Given the description of an element on the screen output the (x, y) to click on. 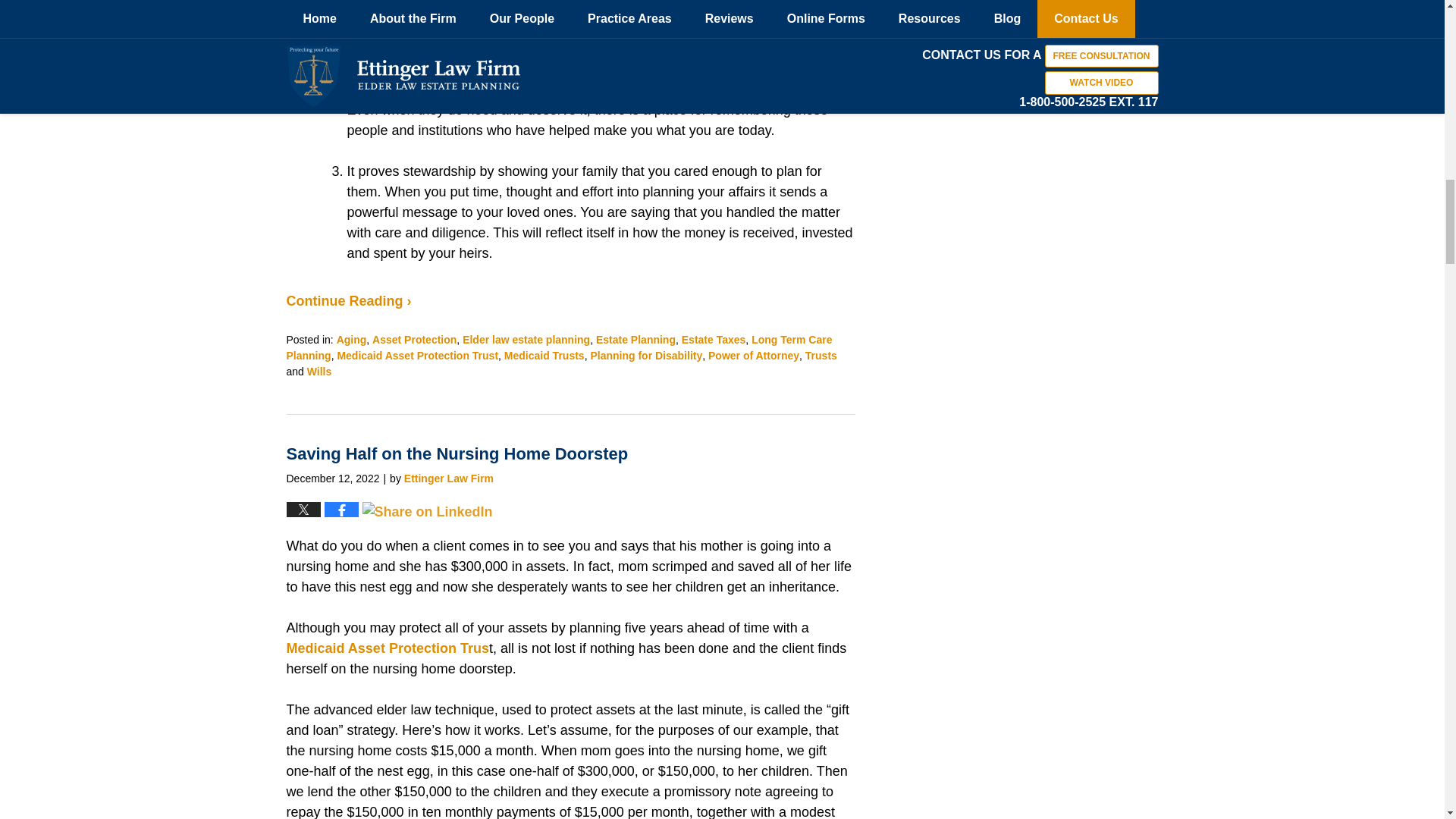
View all posts in Aging (351, 339)
Continue Reading Eight Good Reasons to Plan Your Estate (349, 300)
